Given the description of an element on the screen output the (x, y) to click on. 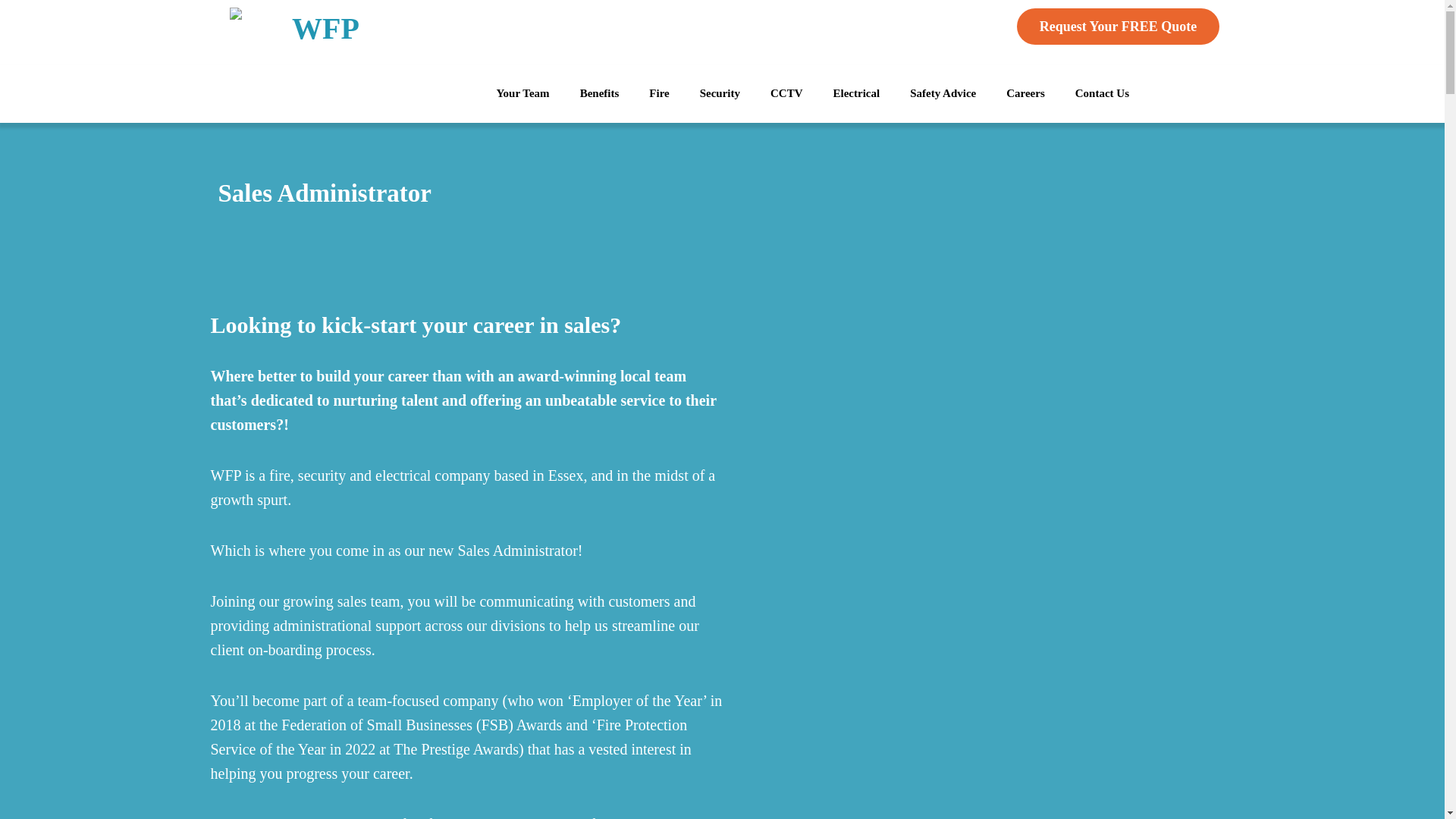
01277 724 653 (924, 25)
Request Your FREE Quote (1118, 26)
Electrical (856, 93)
Security (719, 93)
Your Team (522, 93)
Benefits (599, 93)
CCTV (786, 93)
Fire (658, 93)
